Given the description of an element on the screen output the (x, y) to click on. 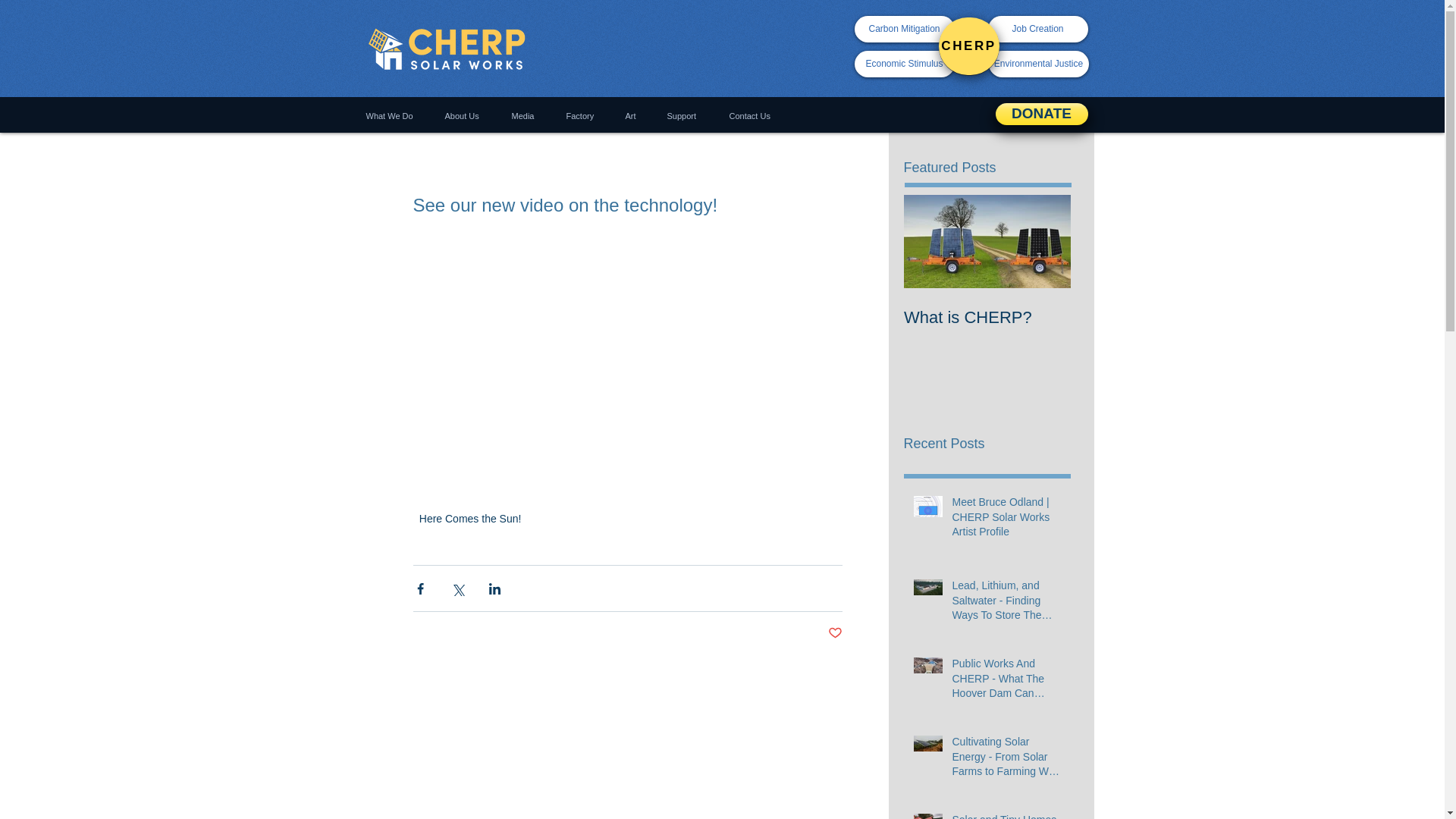
Carbon Mitigation (903, 28)
Post not marked as liked (835, 633)
Environmental Justice (1038, 63)
Public Works And CHERP - What The Hoover Dam Can Teach Us (1006, 681)
Solar and Tiny Homes (1006, 816)
Job Creation (1037, 28)
CHERP (968, 46)
DONATE (1040, 114)
